Given the description of an element on the screen output the (x, y) to click on. 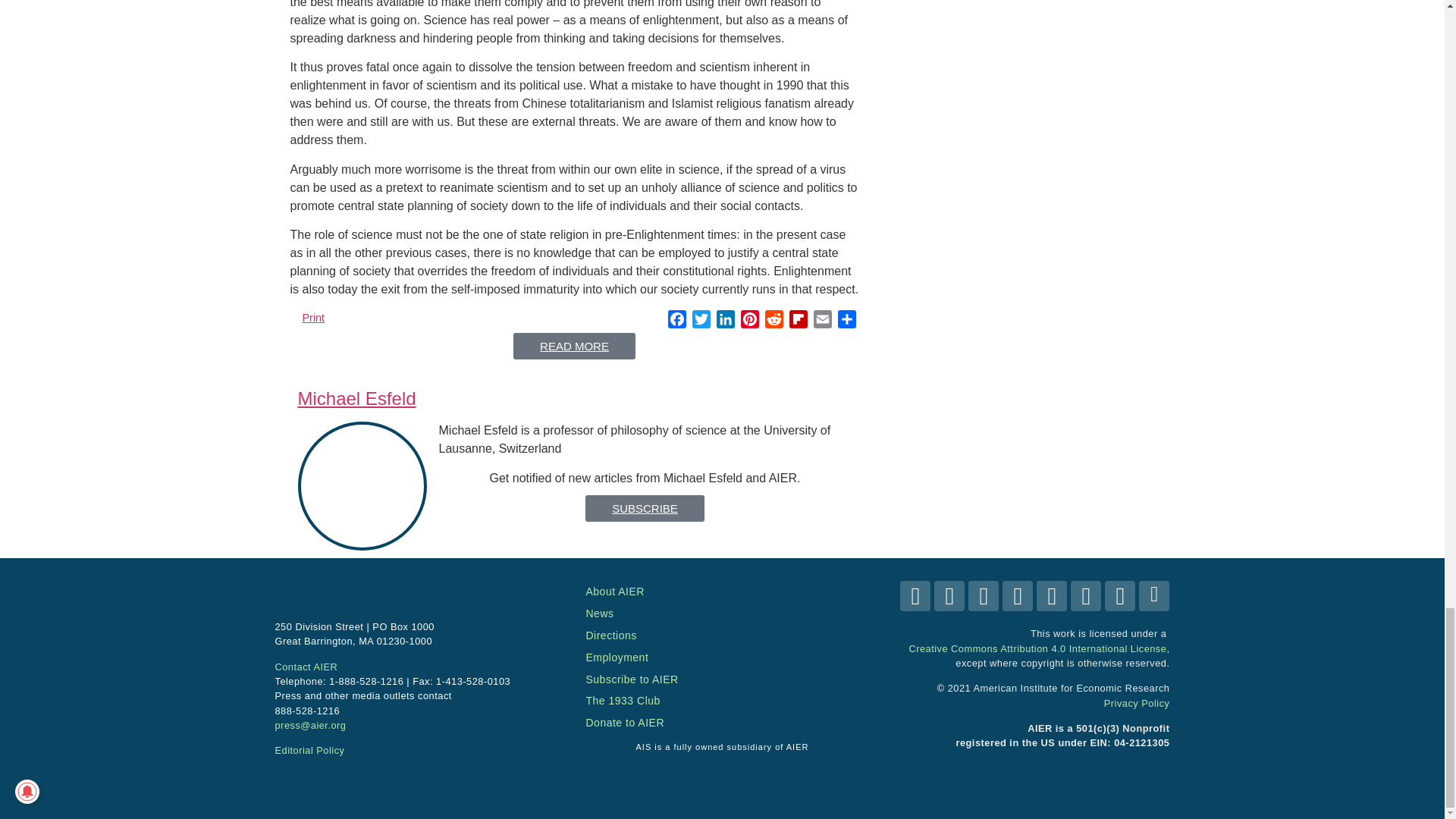
Privacy Policy (1136, 703)
LinkedIn (724, 321)
Twitter (700, 321)
Flipboard (797, 321)
Reddit (773, 321)
Email (821, 321)
Pinterest (748, 321)
Facebook (675, 321)
